Given the description of an element on the screen output the (x, y) to click on. 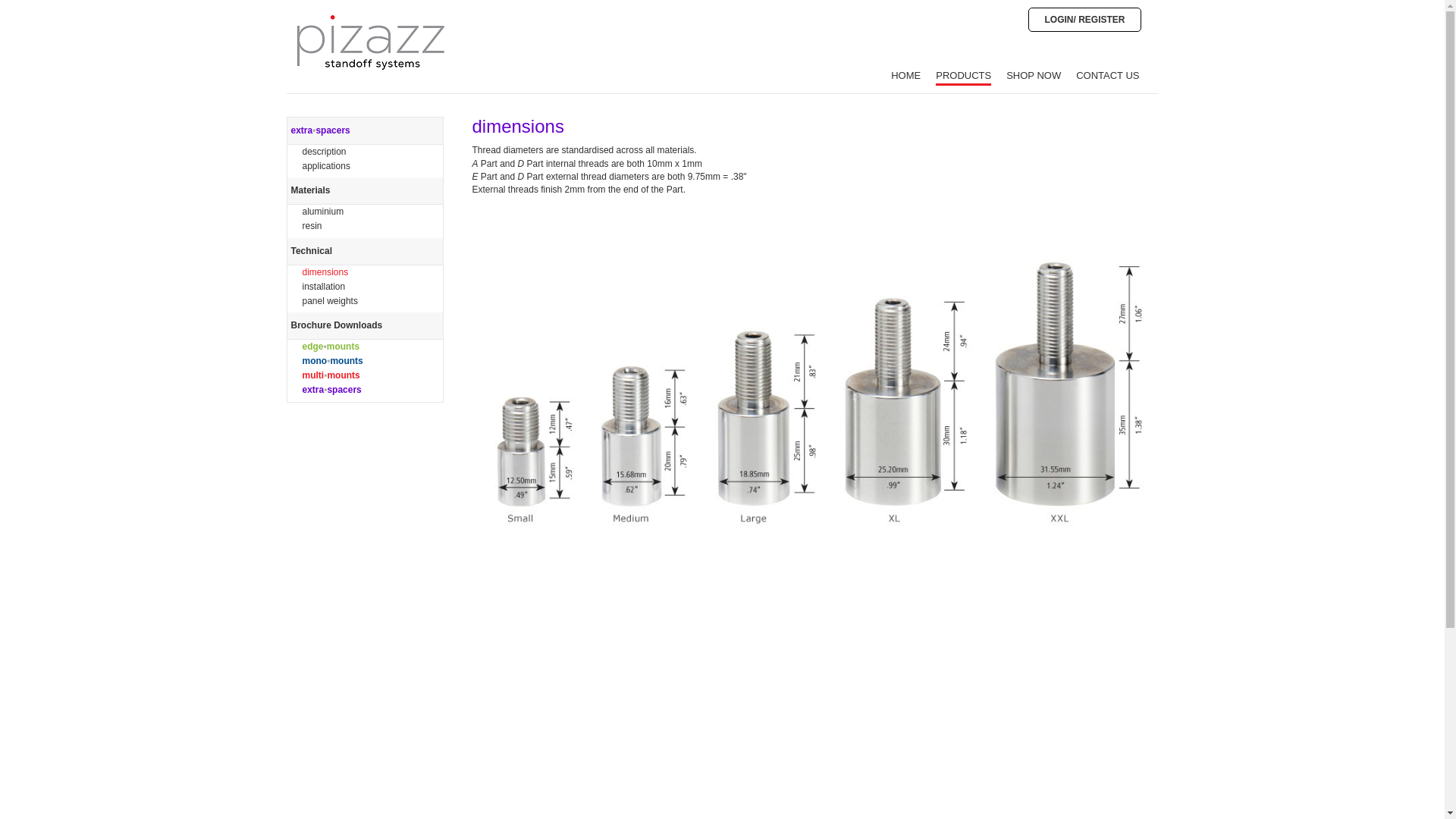
resin (311, 225)
aluminium (322, 211)
SHOP NOW (1033, 76)
CONTACT US (1106, 76)
HOME (905, 76)
applications (325, 165)
dimensions (324, 271)
installation (323, 286)
description (323, 151)
PRODUCTS (963, 76)
panel weights (328, 300)
